Given the description of an element on the screen output the (x, y) to click on. 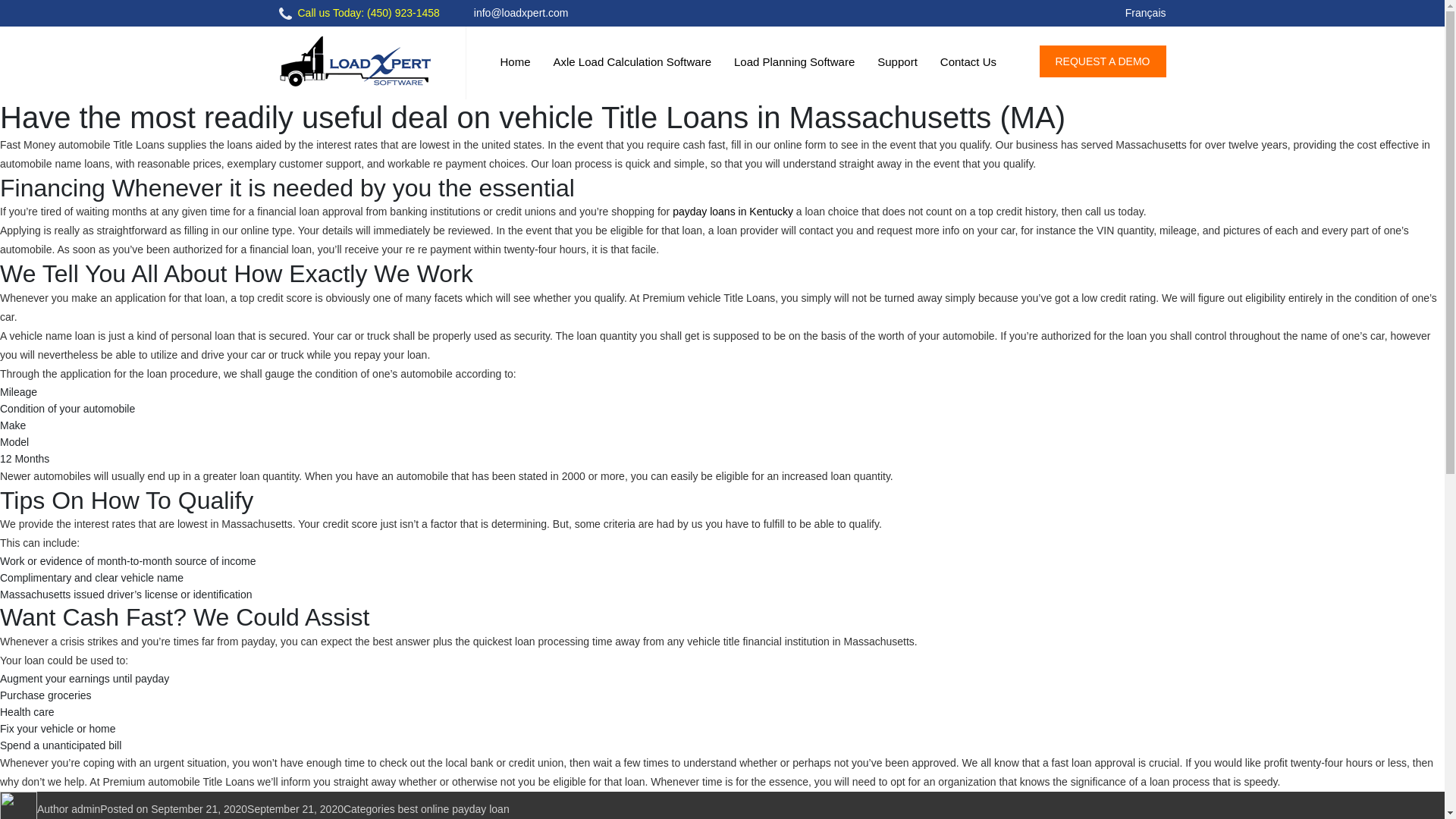
admin (85, 808)
payday loans in Kentucky (732, 211)
Axle Load Calculation Software (632, 61)
best online payday loan (453, 808)
REQUEST A DEMO (1102, 60)
Home (515, 61)
Support (897, 61)
September 21, 2020September 21, 2020 (247, 808)
Load Xpert (354, 61)
Load Planning Software (793, 61)
Contact Us (968, 61)
